Given the description of an element on the screen output the (x, y) to click on. 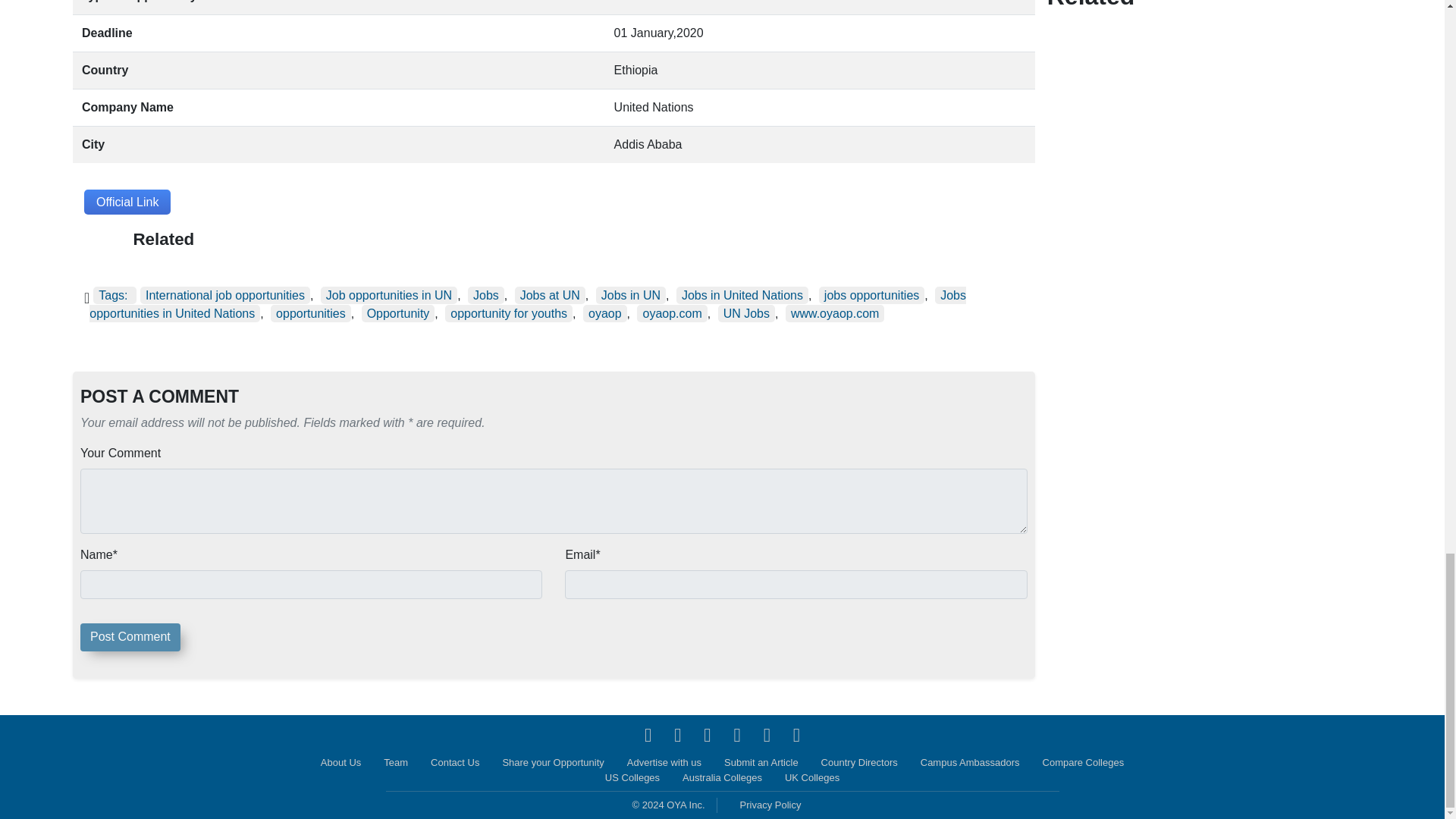
Post Comment (130, 637)
